Given the description of an element on the screen output the (x, y) to click on. 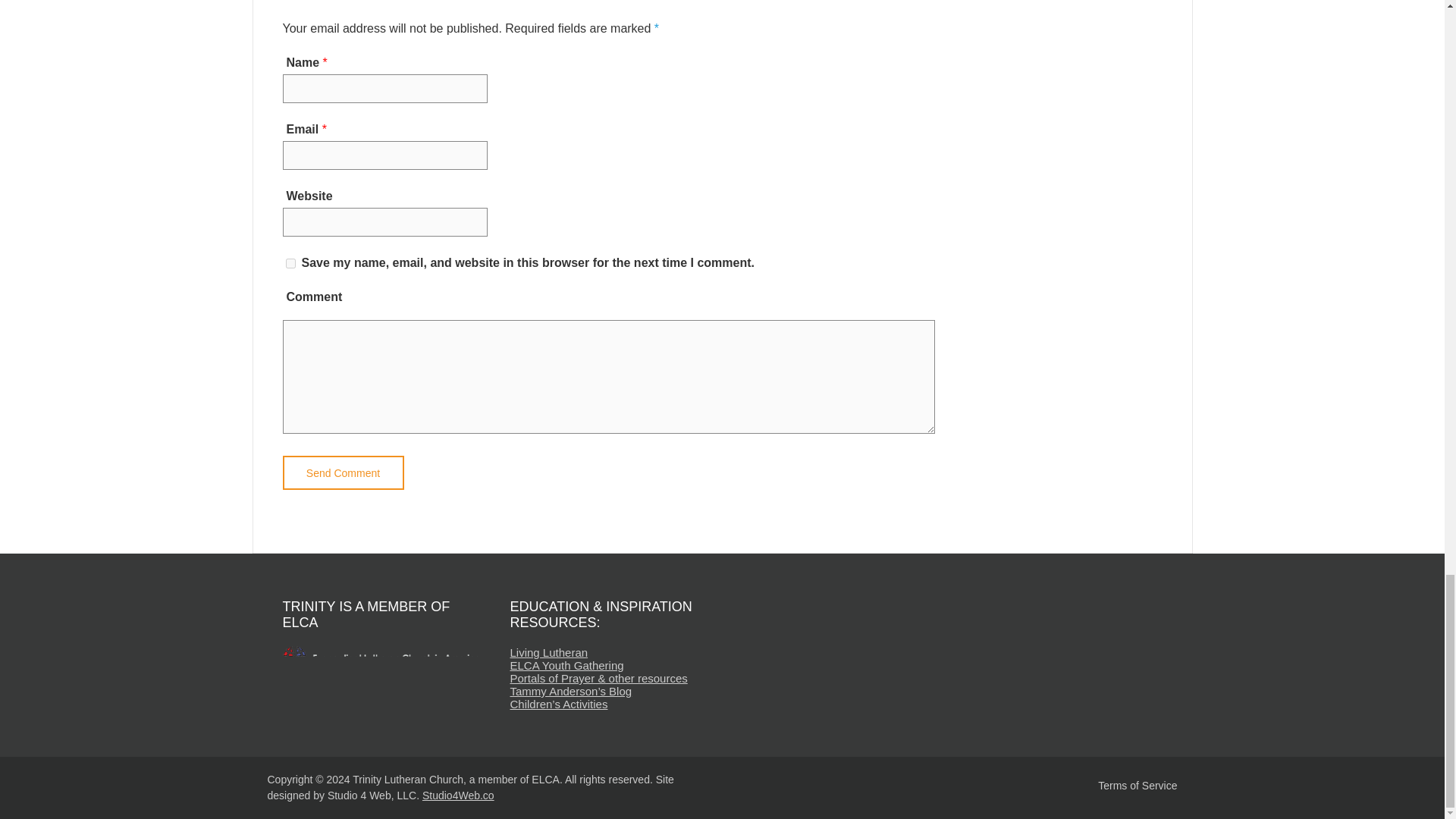
yes (290, 263)
Studio4Web (458, 795)
Send Comment (342, 472)
